Given the description of an element on the screen output the (x, y) to click on. 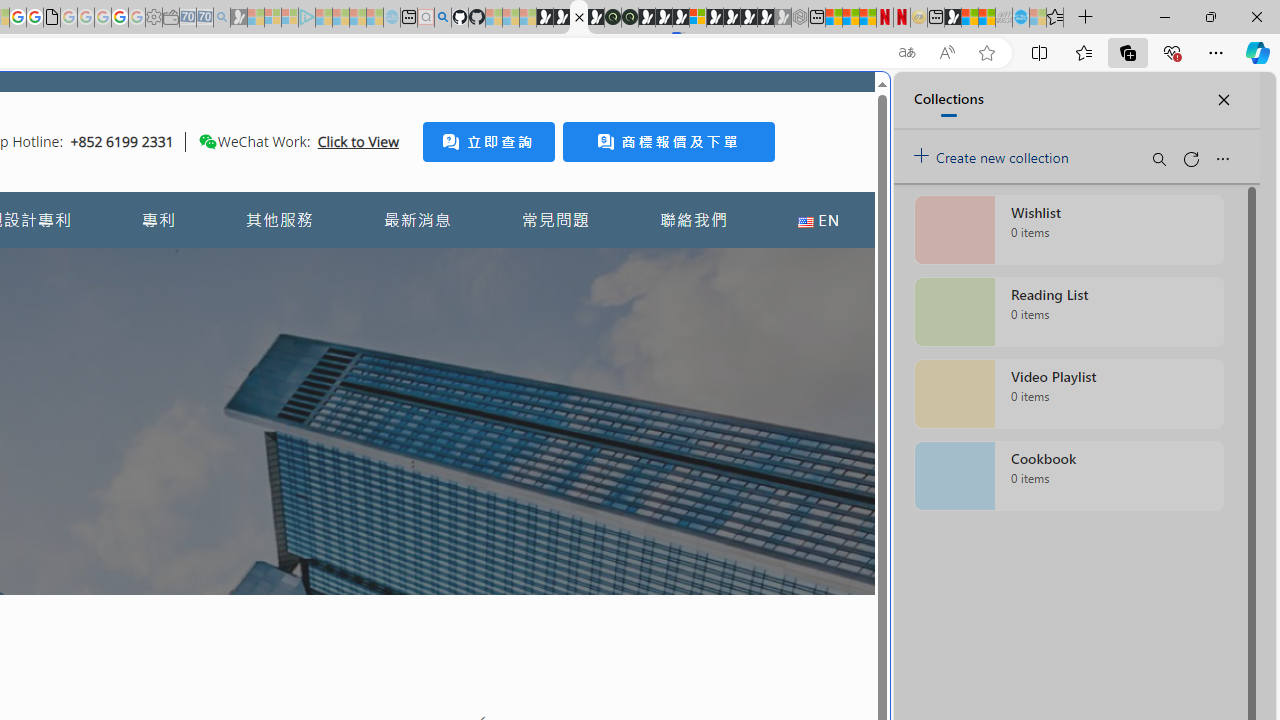
Earth has six continents not seven, radical new study claims (986, 17)
Future Focus Report 2024 (629, 17)
Tabs you've opened (276, 265)
Frequently visited (418, 265)
